Given the description of an element on the screen output the (x, y) to click on. 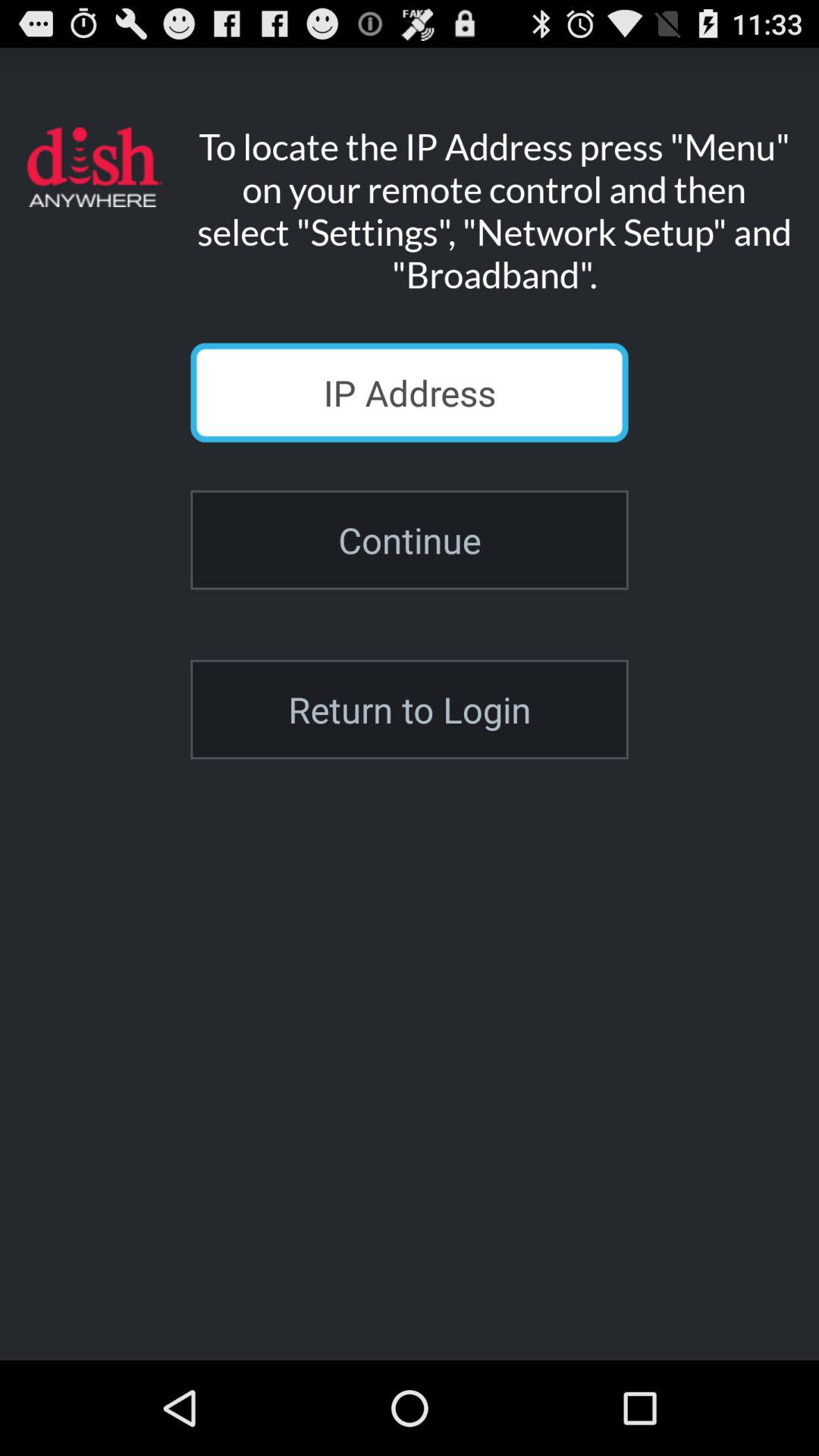
scroll until the return to login (409, 709)
